Given the description of an element on the screen output the (x, y) to click on. 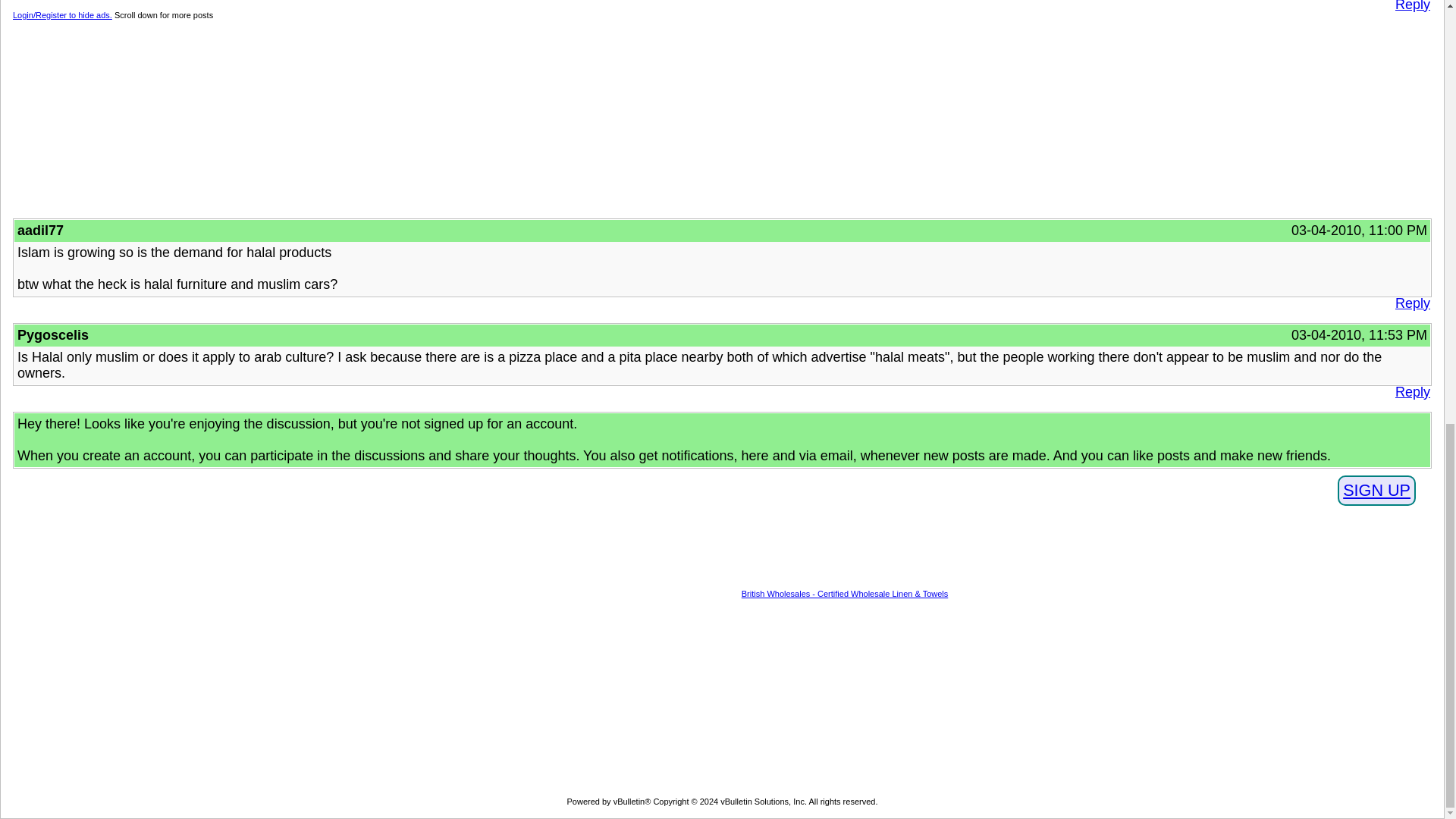
3rd party ad content (702, 117)
Reply (1411, 6)
3rd party ad content (721, 696)
SIGN UP (1376, 490)
Reply (1411, 392)
3rd party ad content (617, 558)
Reply (1411, 303)
